Given the description of an element on the screen output the (x, y) to click on. 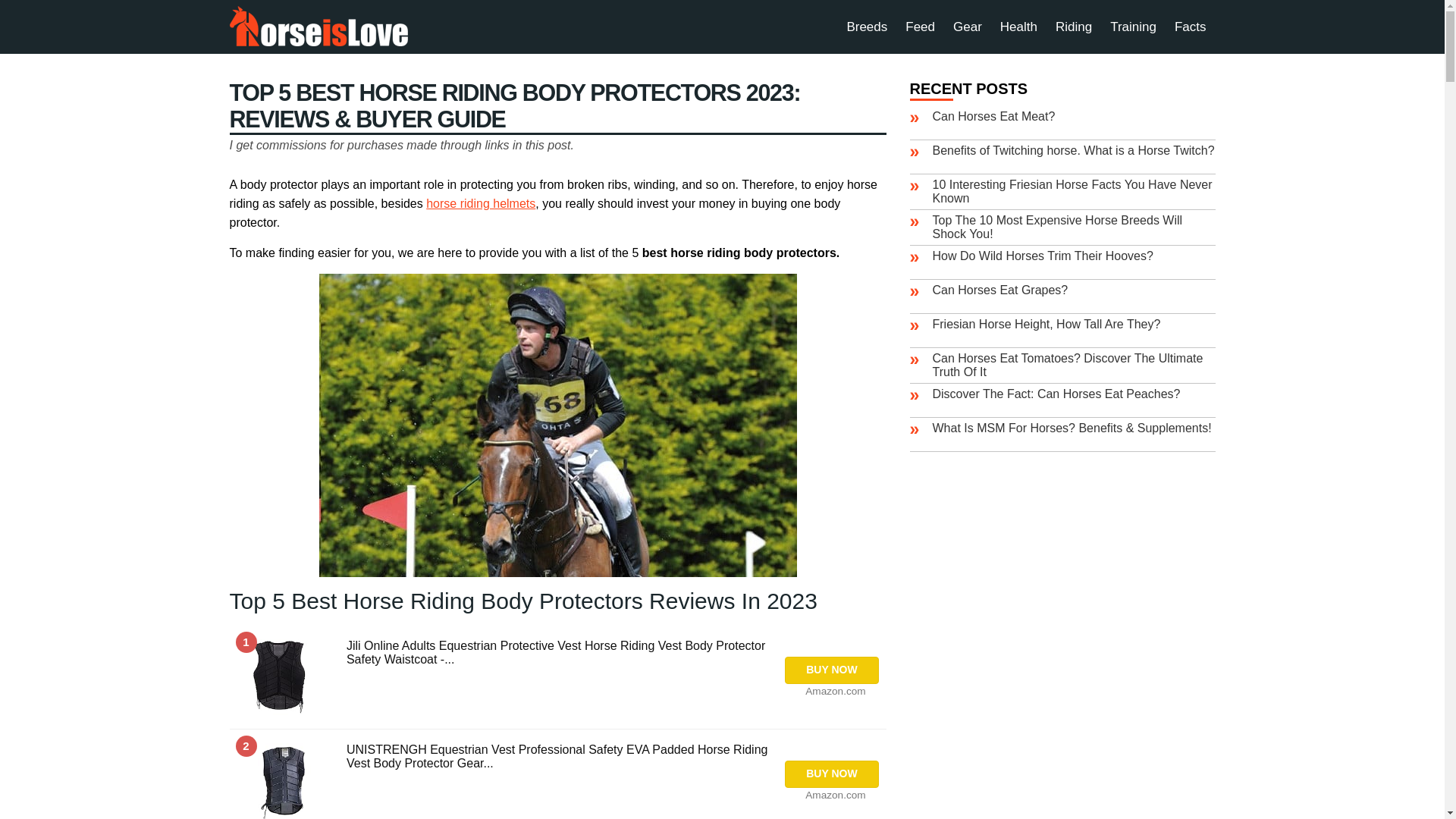
Horse is Love (317, 25)
Horse is Love (317, 25)
Training (1133, 27)
horse riding helmets (480, 203)
Facts (1190, 27)
Breeds (866, 27)
BUY NOW (831, 773)
Riding (1073, 27)
